Given the description of an element on the screen output the (x, y) to click on. 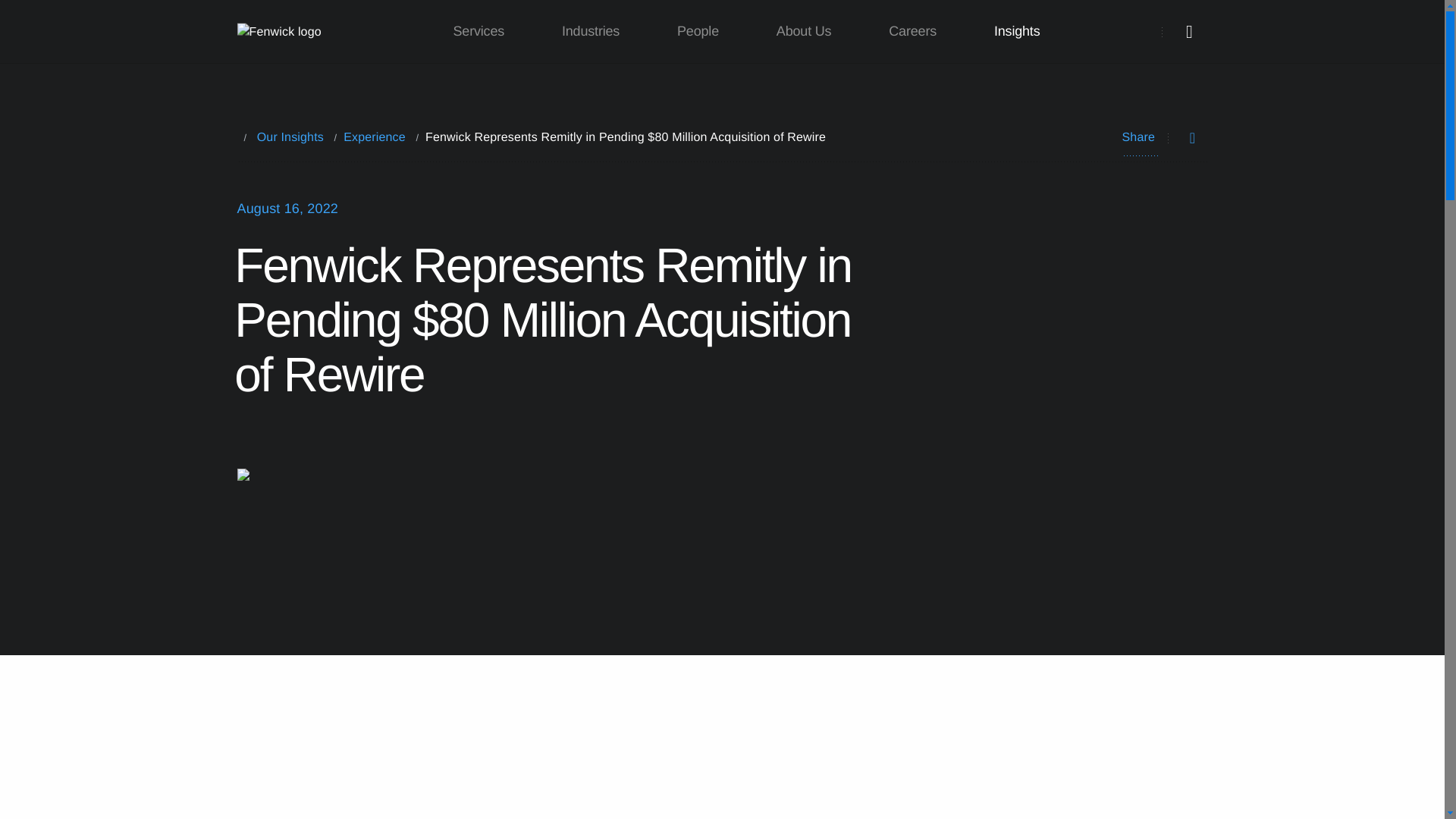
search icon (1188, 31)
Services (478, 31)
